Given the description of an element on the screen output the (x, y) to click on. 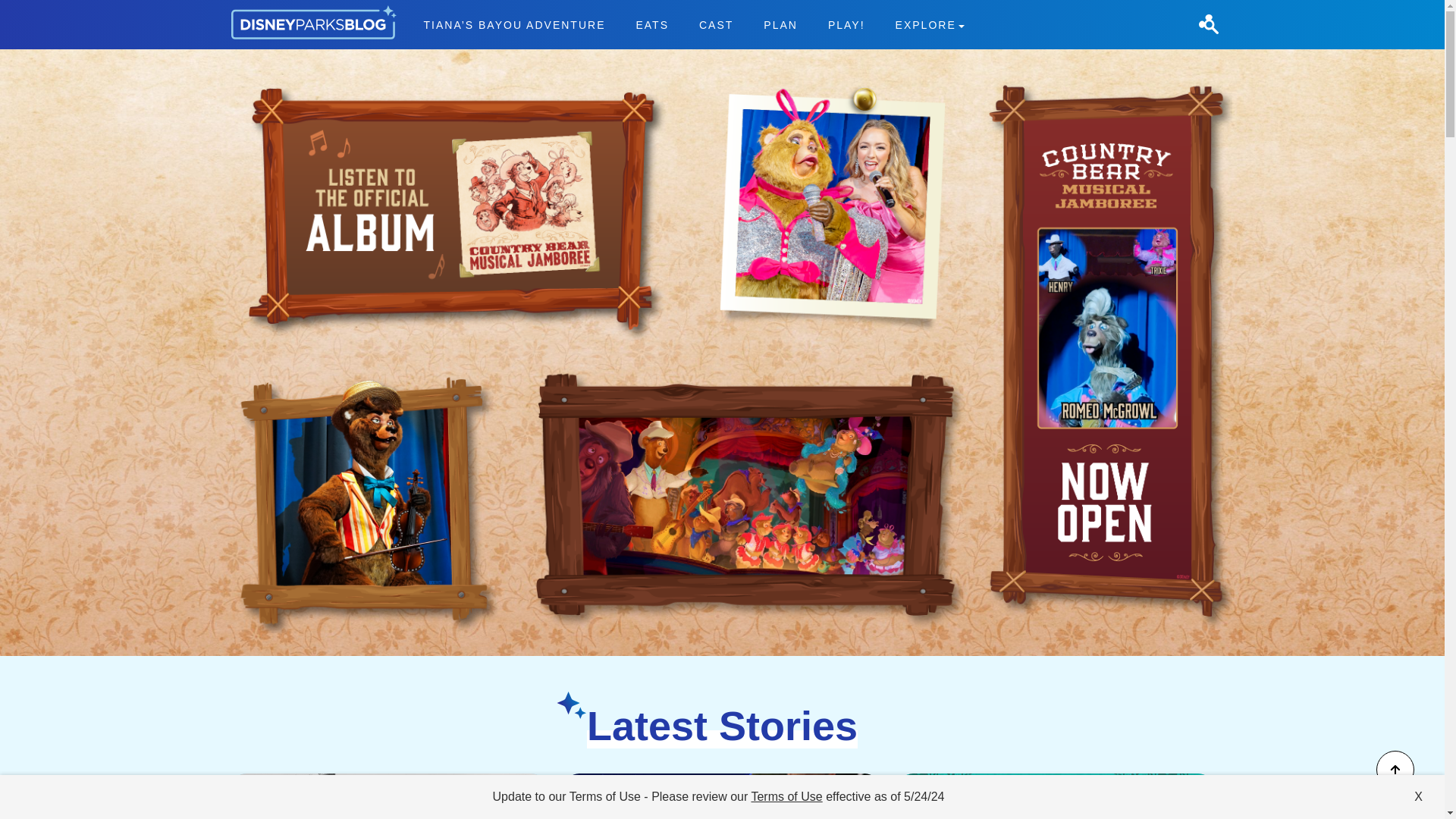
Skip to content (40, 8)
Terms of Use (786, 796)
PLAY! (846, 23)
EXPLORE (930, 23)
CAST (715, 23)
PLAN (781, 23)
EATS (651, 23)
